Given the description of an element on the screen output the (x, y) to click on. 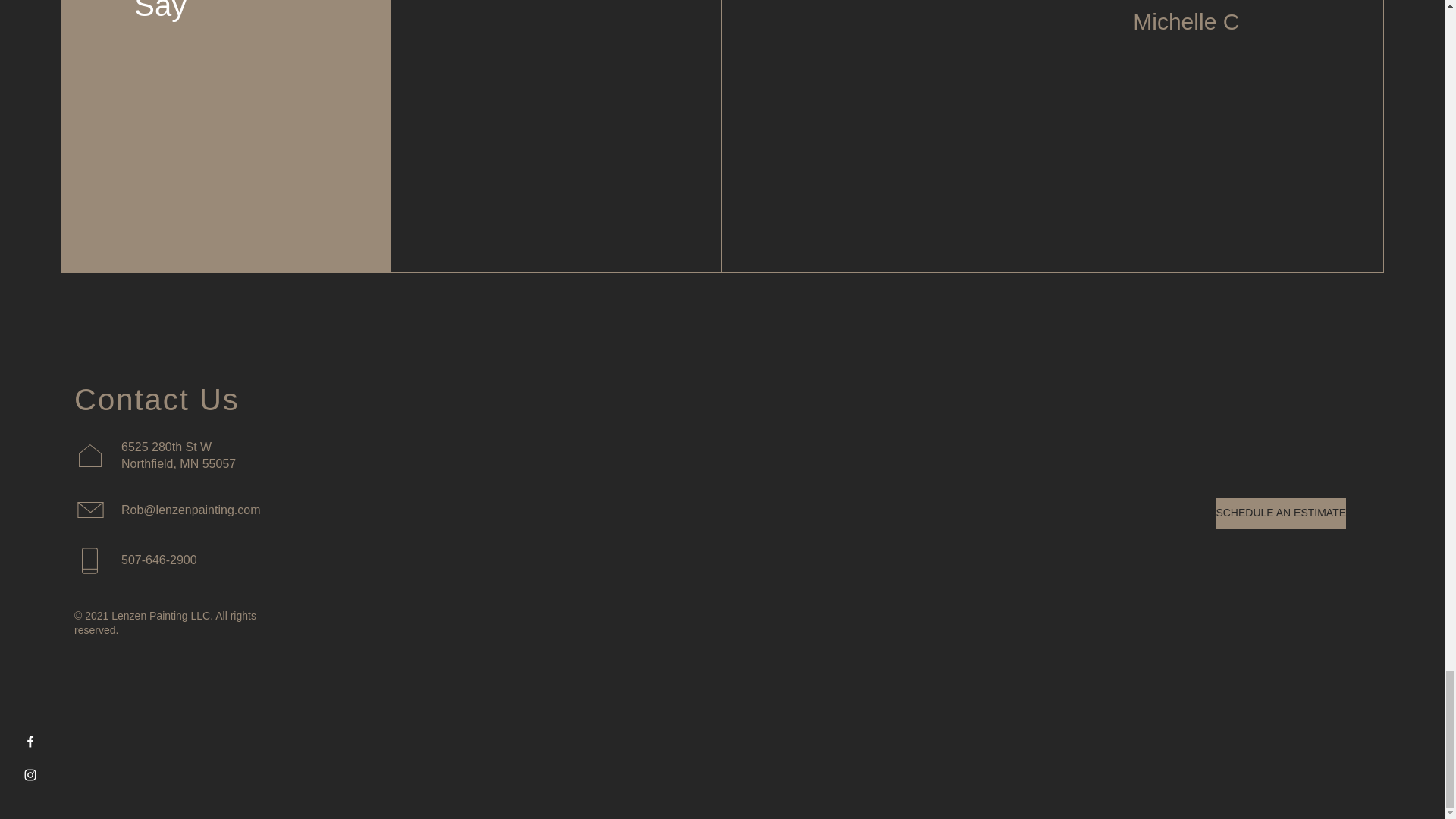
SCHEDULE AN ESTIMATE (1280, 512)
